Given the description of an element on the screen output the (x, y) to click on. 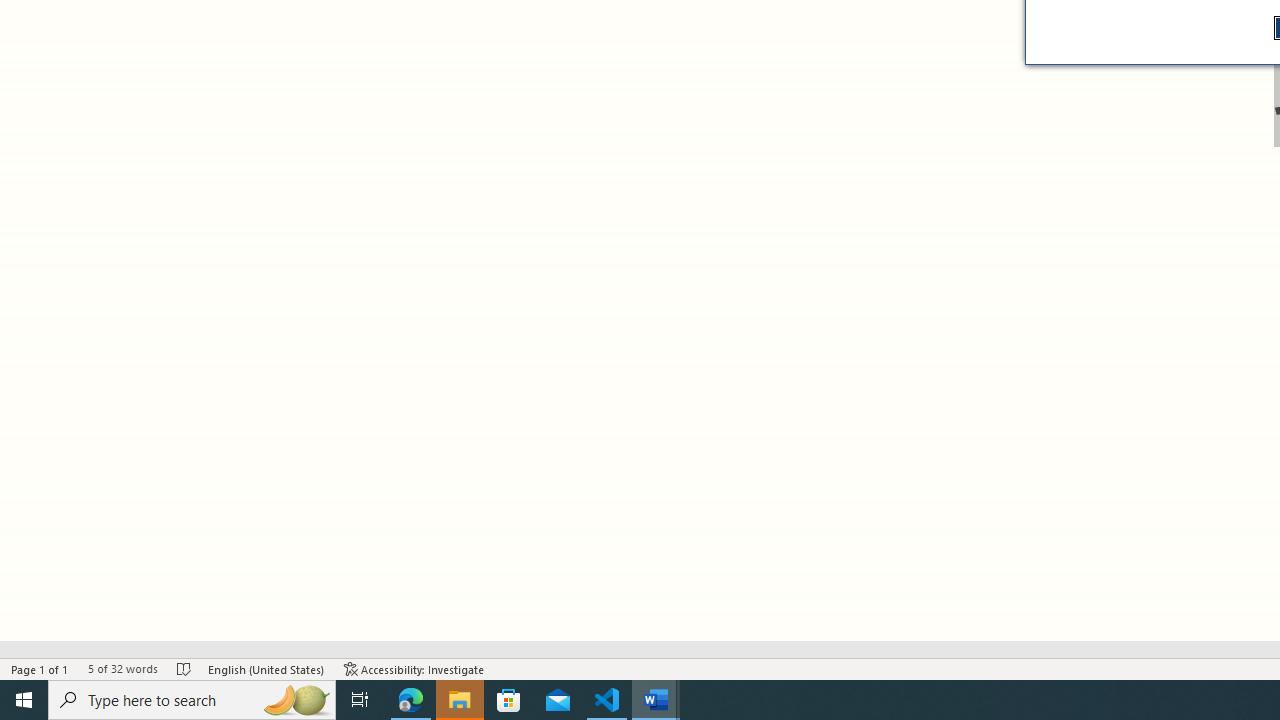
Search highlights icon opens search home window (295, 699)
Accessibility Checker Accessibility: Investigate (413, 668)
Microsoft Edge - 1 running window (411, 699)
Visual Studio Code - 1 running window (607, 699)
Start (24, 699)
Microsoft Store (509, 699)
Page Number Page 1 of 1 (39, 668)
Word - 2 running windows (656, 699)
Language English (United States) (266, 668)
Task View (359, 699)
Spelling and Grammar Check No Errors (184, 668)
File Explorer - 1 running window (460, 699)
Word Count 5 of 32 words (122, 668)
Type here to search (191, 699)
